Given the description of an element on the screen output the (x, y) to click on. 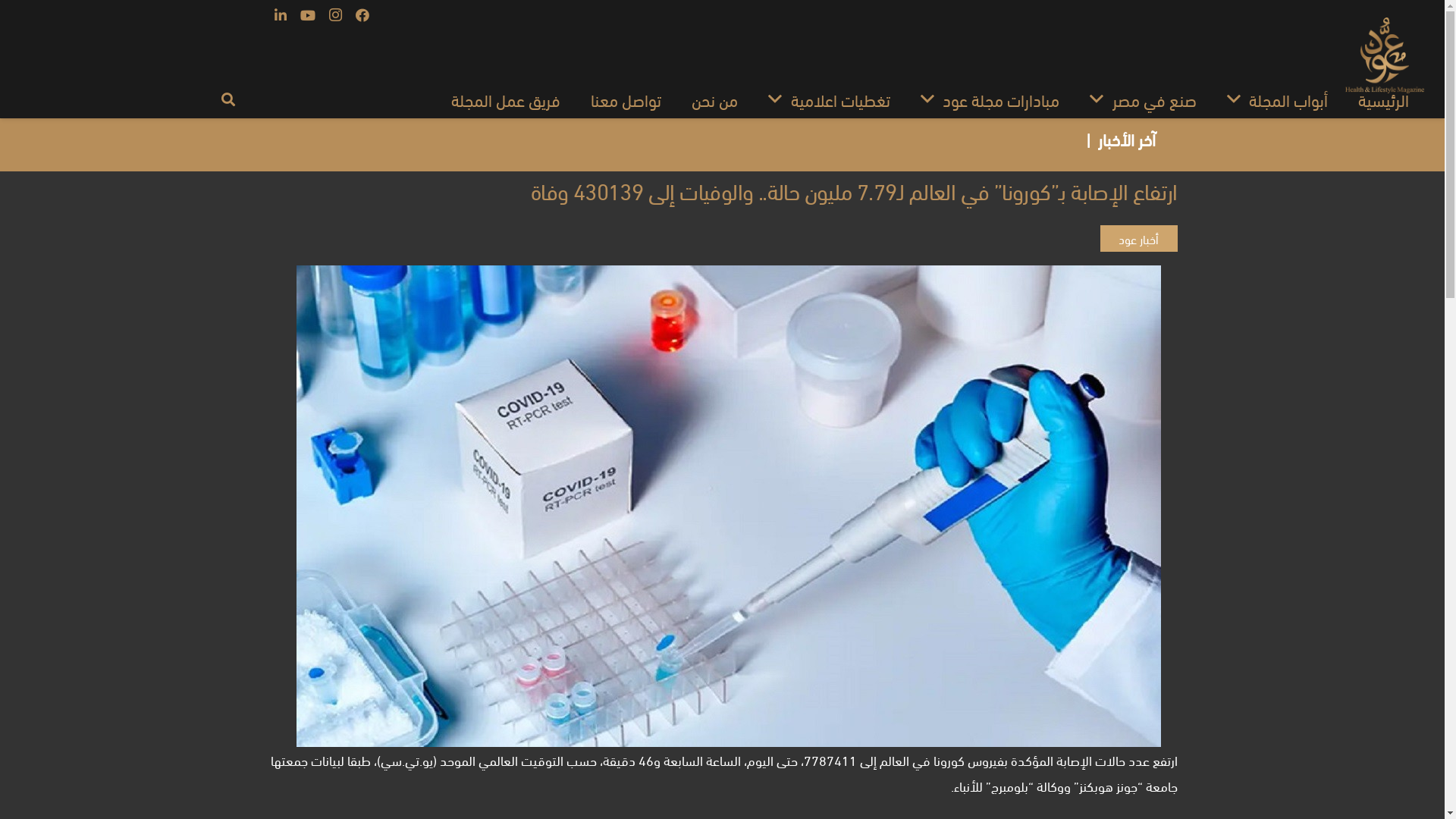
Facebook Element type: hover (362, 14)
Instagram Element type: hover (334, 14)
LinkedIn Element type: hover (280, 14)
YouTube Element type: hover (307, 14)
